Given the description of an element on the screen output the (x, y) to click on. 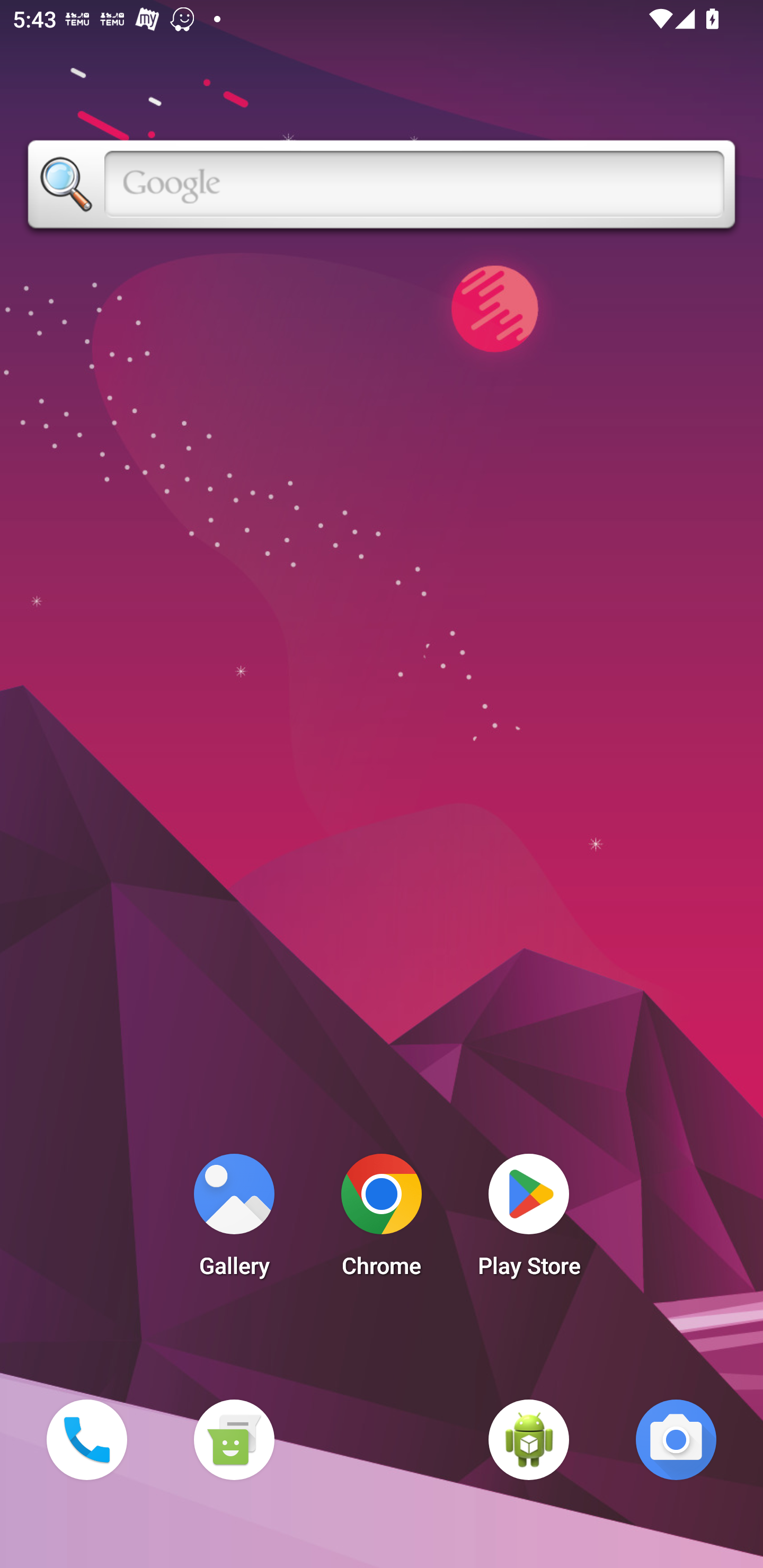
Gallery (233, 1220)
Chrome (381, 1220)
Play Store (528, 1220)
Phone (86, 1439)
Messaging (233, 1439)
WebView Browser Tester (528, 1439)
Camera (676, 1439)
